Given the description of an element on the screen output the (x, y) to click on. 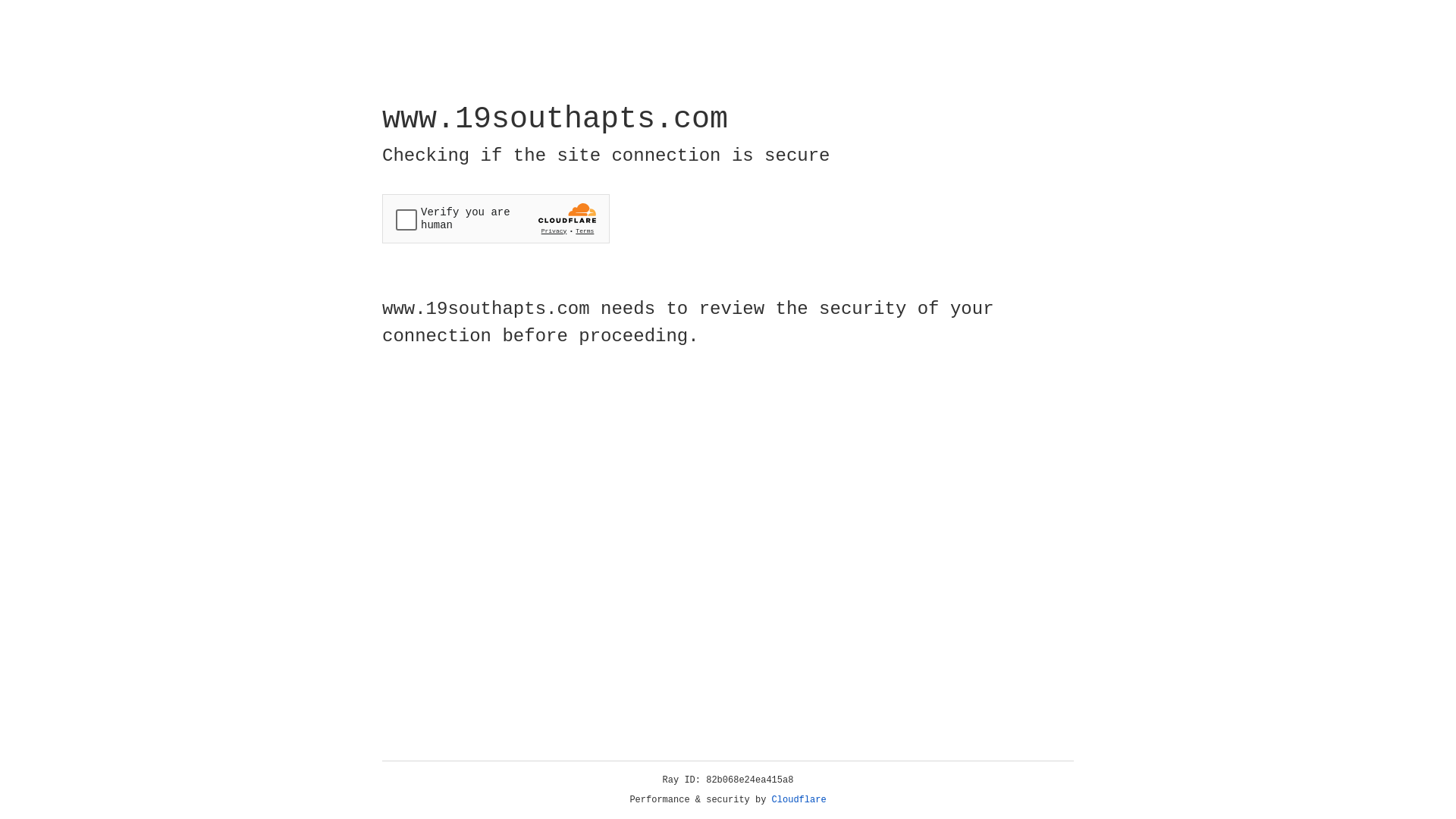
Widget containing a Cloudflare security challenge Element type: hover (495, 218)
Cloudflare Element type: text (798, 799)
